Given the description of an element on the screen output the (x, y) to click on. 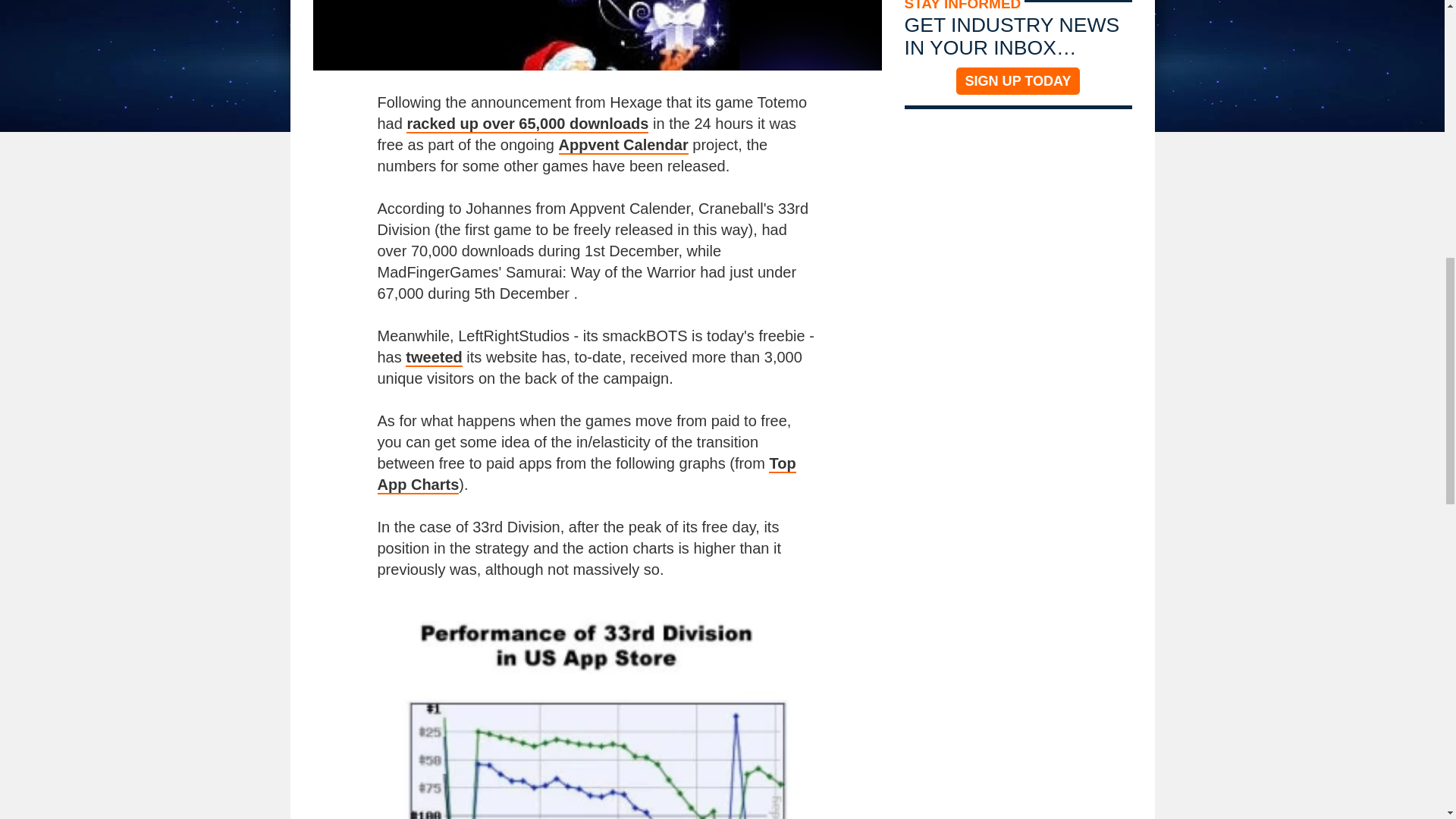
racked up over 65,000 downloads (526, 124)
Top App Charts (586, 474)
tweeted (433, 357)
Appvent Calendar (623, 145)
